Given the description of an element on the screen output the (x, y) to click on. 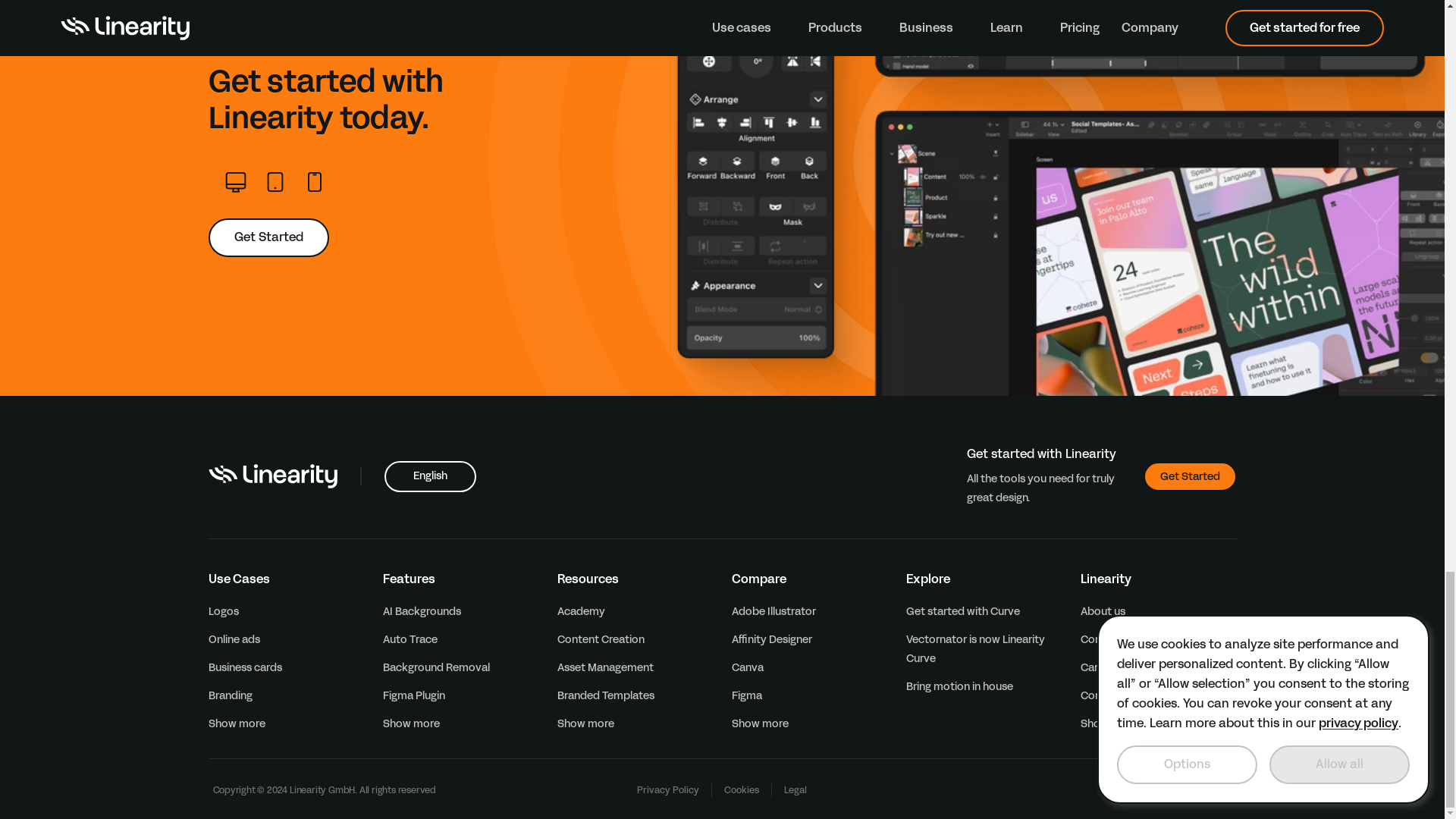
Get Started (1189, 476)
Online ads (233, 639)
Get Started (268, 237)
English (430, 476)
English (430, 476)
Logos (223, 611)
